Given the description of an element on the screen output the (x, y) to click on. 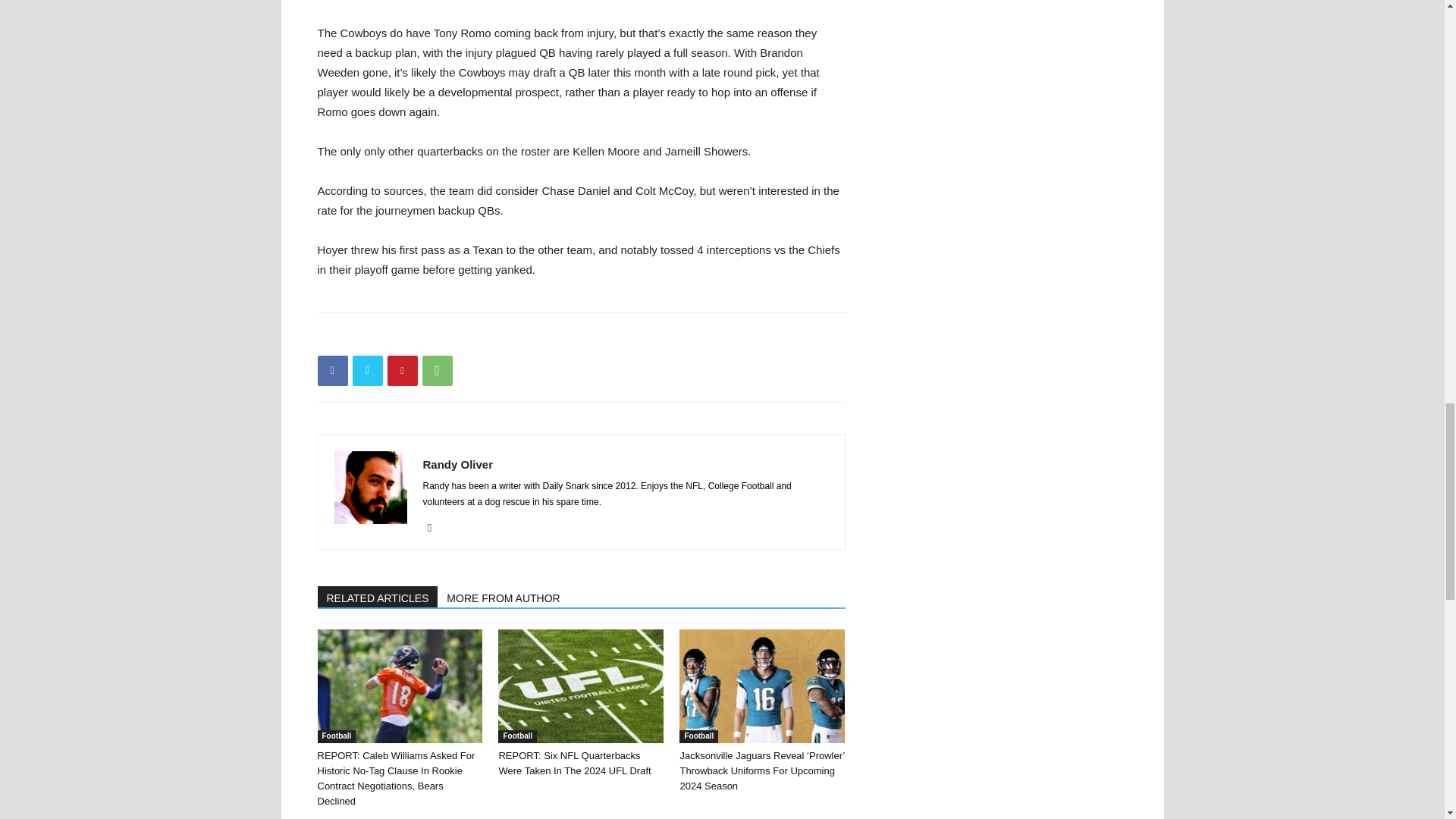
RELATED ARTICLES (377, 596)
MORE FROM AUTHOR (503, 596)
Randy Oliver (458, 463)
